Given the description of an element on the screen output the (x, y) to click on. 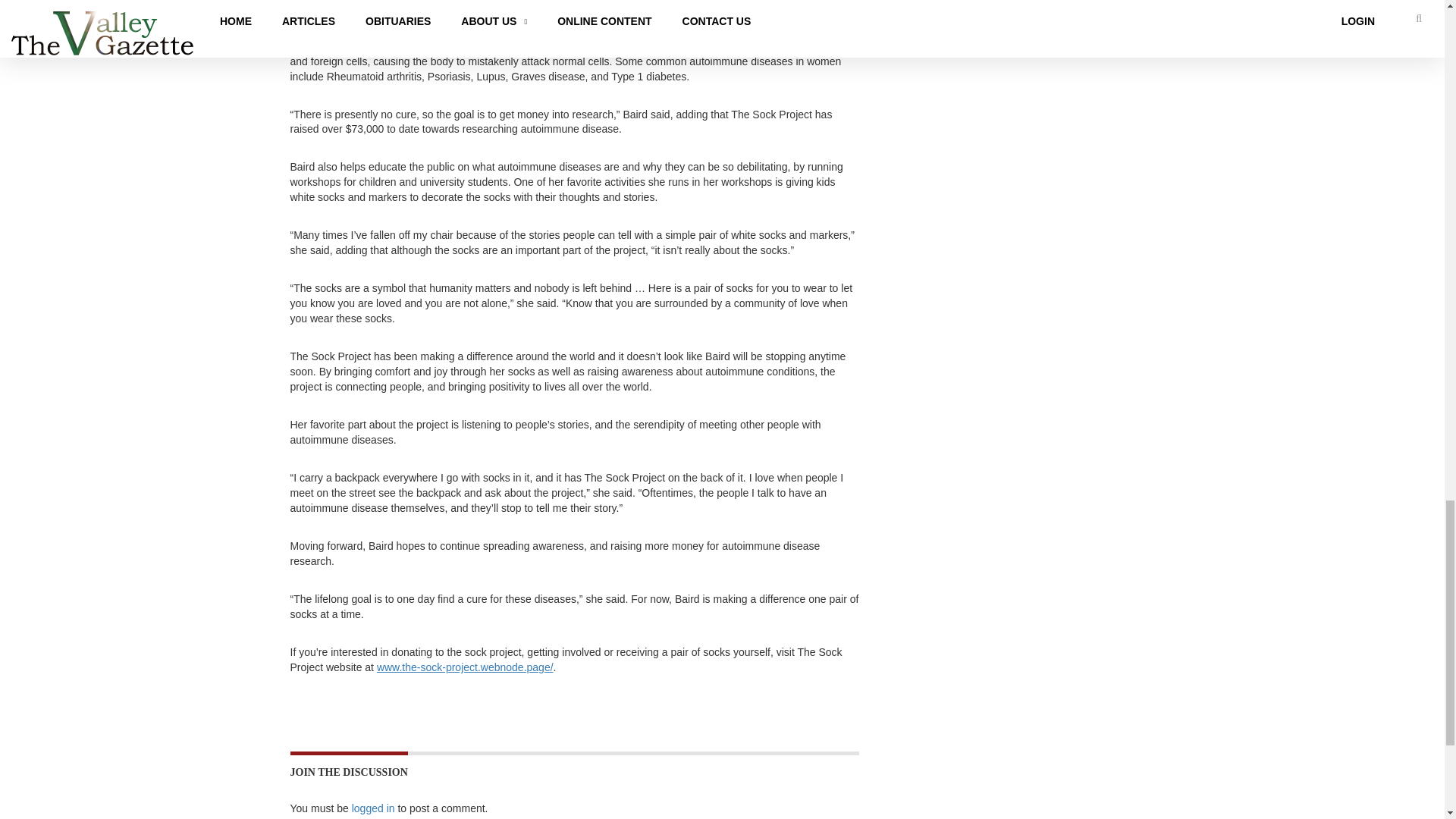
logged in (373, 808)
